Given the description of an element on the screen output the (x, y) to click on. 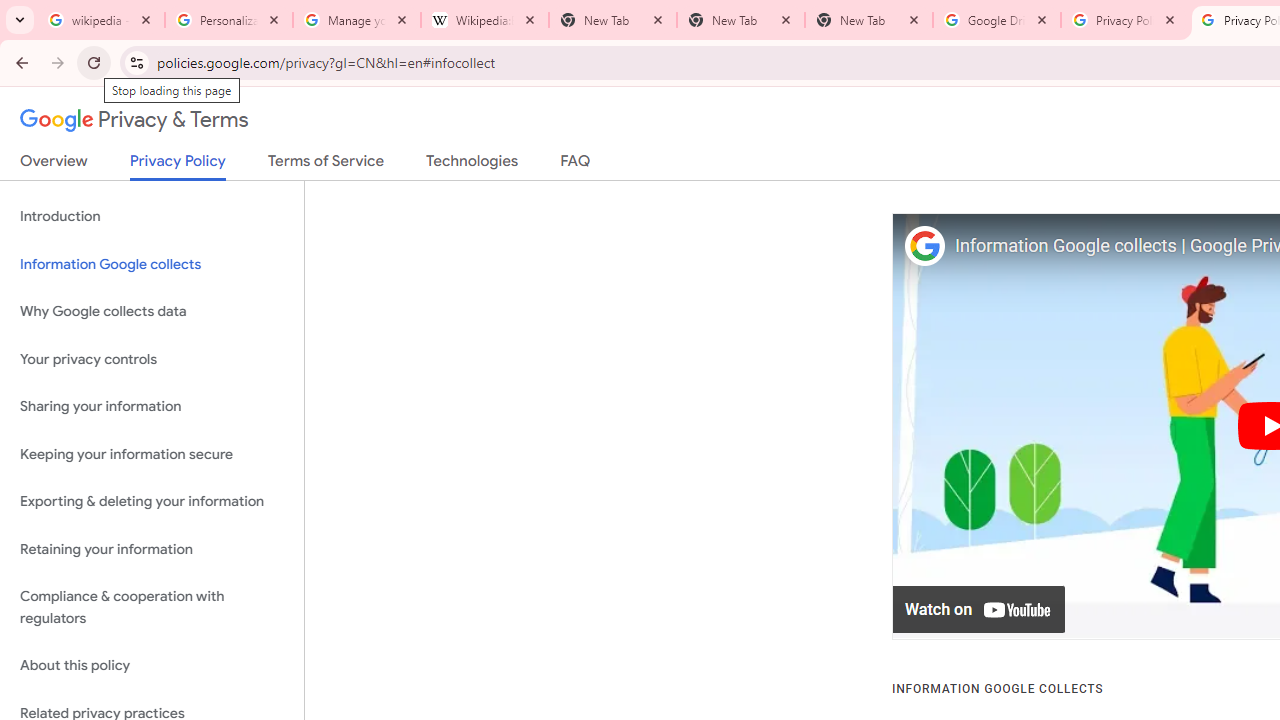
Overview (54, 165)
Compliance & cooperation with regulators (152, 607)
Retaining your information (152, 548)
Privacy Policy (177, 166)
Personalization & Google Search results - Google Search Help (229, 20)
Information Google collects (152, 263)
Your privacy controls (152, 358)
Exporting & deleting your information (152, 502)
Technologies (472, 165)
New Tab (869, 20)
View site information (136, 62)
